Given the description of an element on the screen output the (x, y) to click on. 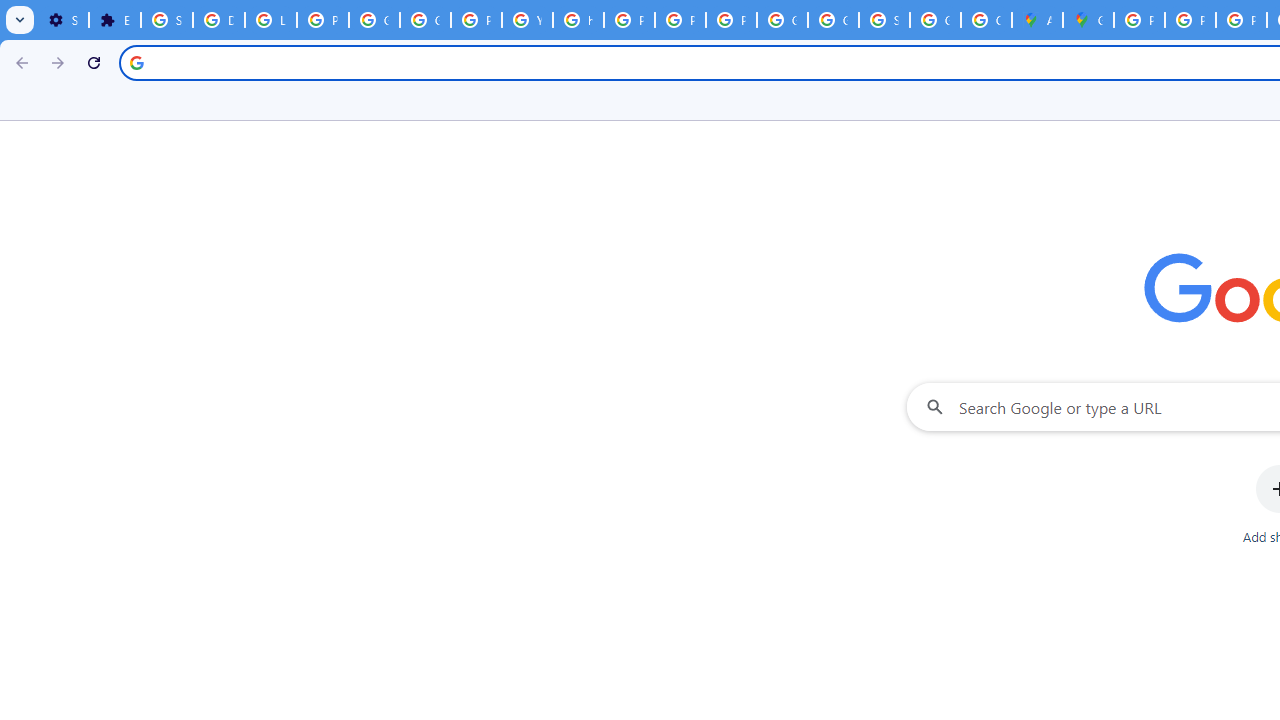
Settings - On startup (63, 20)
